Given the description of an element on the screen output the (x, y) to click on. 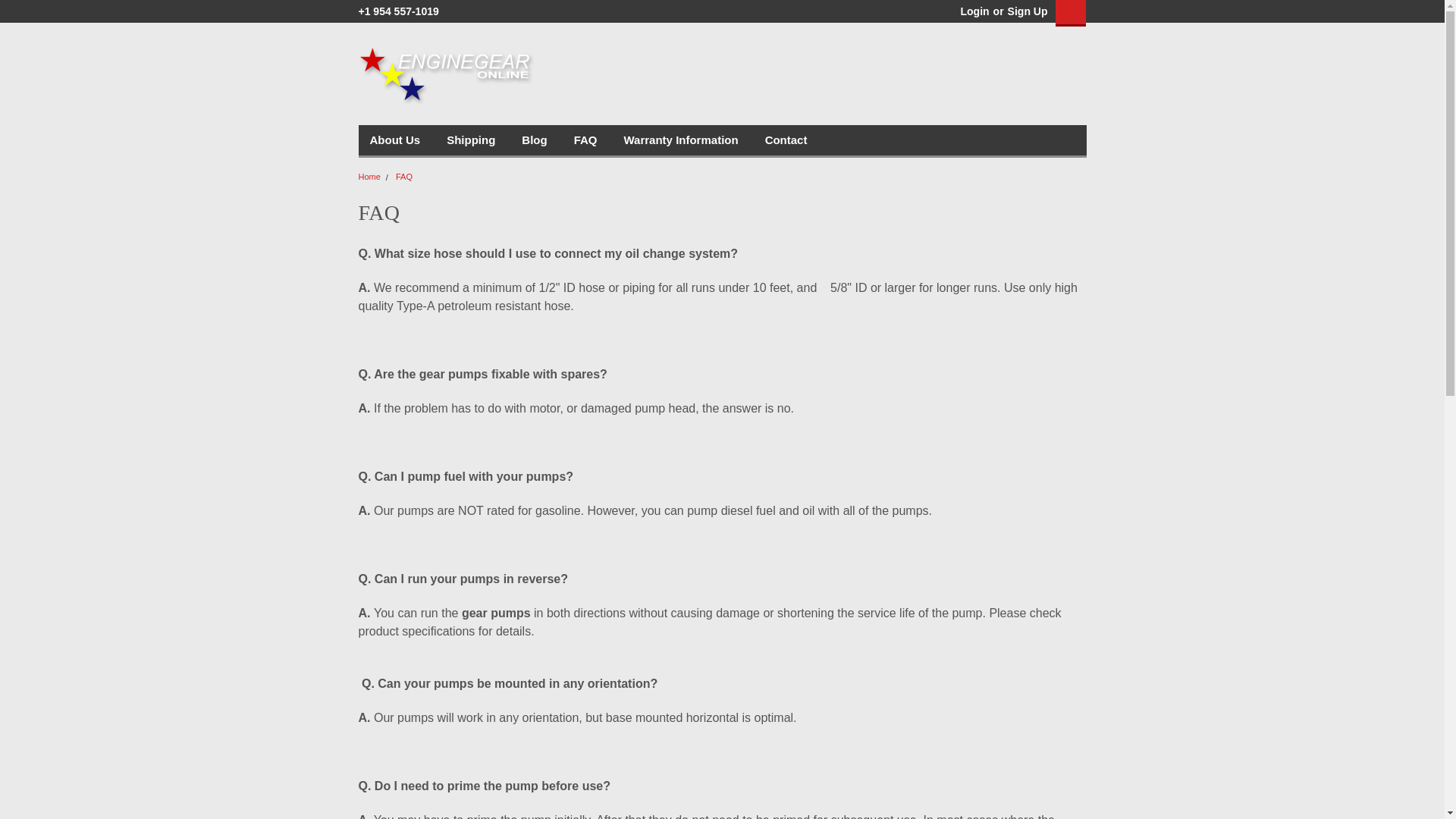
Login (973, 11)
Contact (799, 140)
Enginegearonline Store (446, 75)
FAQ (598, 140)
Sign Up (1026, 11)
Blog (547, 140)
Shipping (483, 140)
Warranty Information (693, 140)
About Us (407, 140)
